Given the description of an element on the screen output the (x, y) to click on. 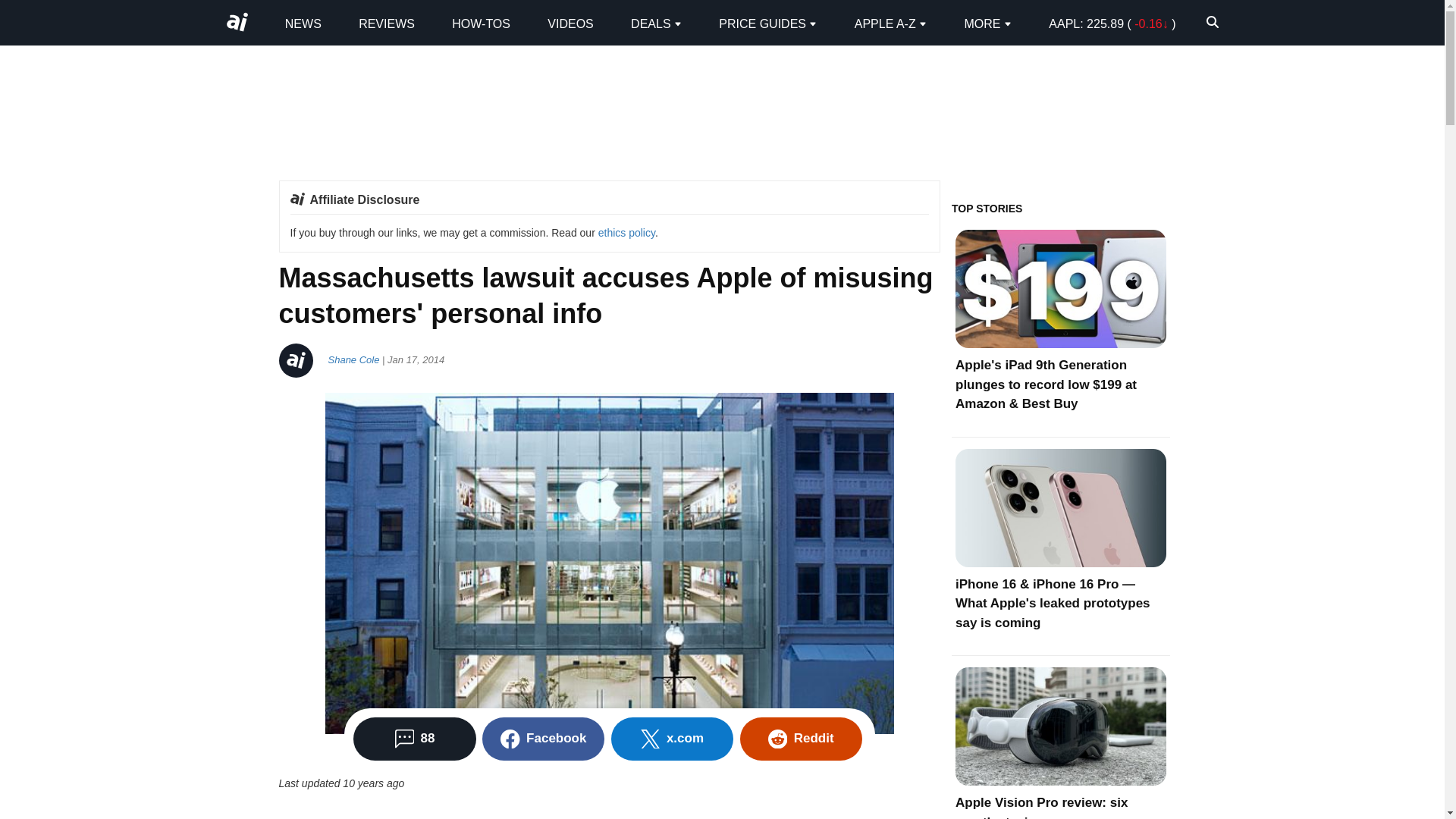
Reviews (386, 23)
News (303, 23)
HOW-TOS (481, 23)
VIDEOS (569, 23)
Videos (569, 23)
NEWS (303, 23)
How-Tos (481, 23)
REVIEWS (386, 23)
